Given the description of an element on the screen output the (x, y) to click on. 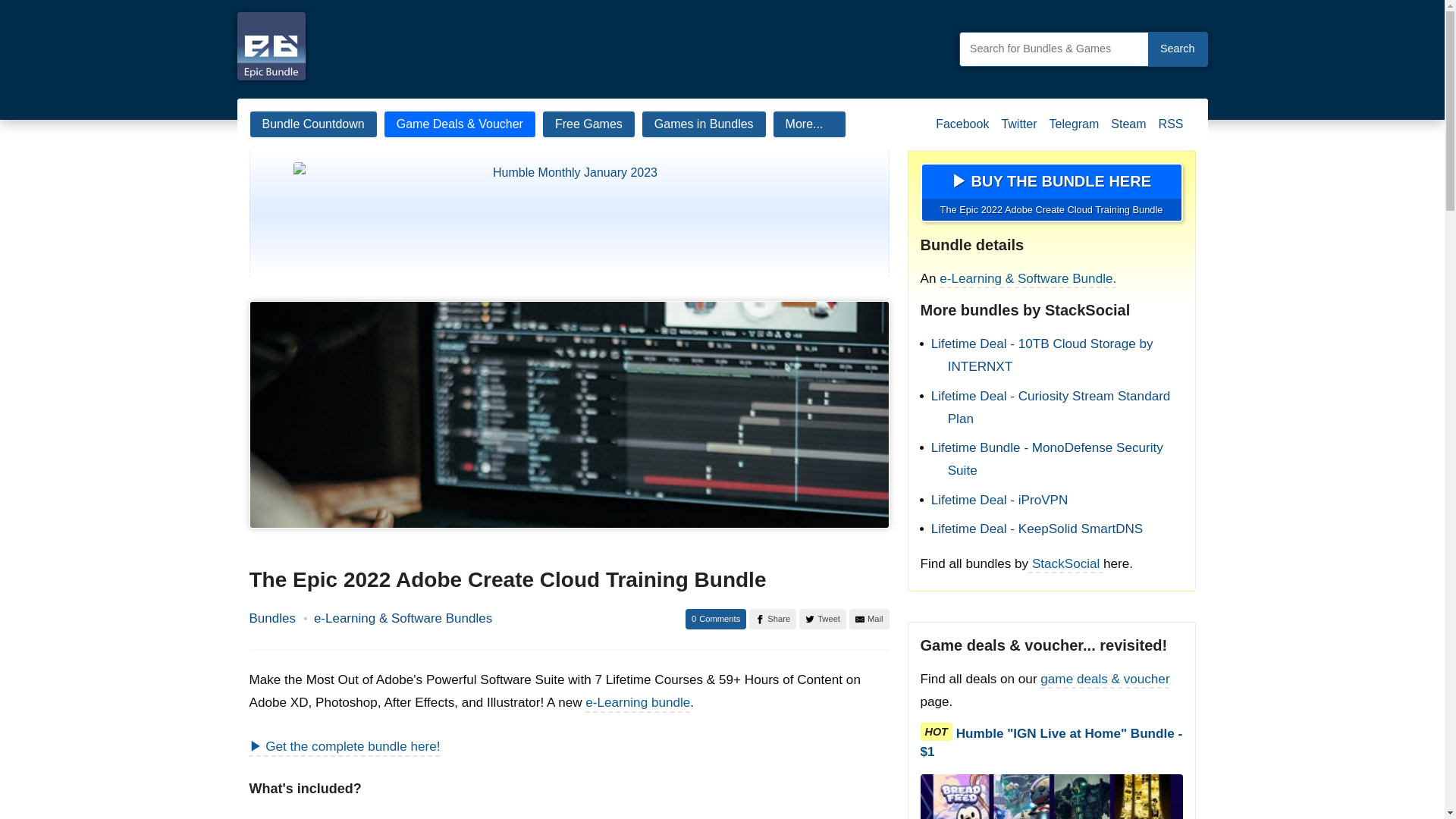
More... (810, 124)
Free Games (587, 124)
Steam (1128, 129)
Telegram (1074, 129)
Facebook (962, 129)
Mail (868, 619)
